Given the description of an element on the screen output the (x, y) to click on. 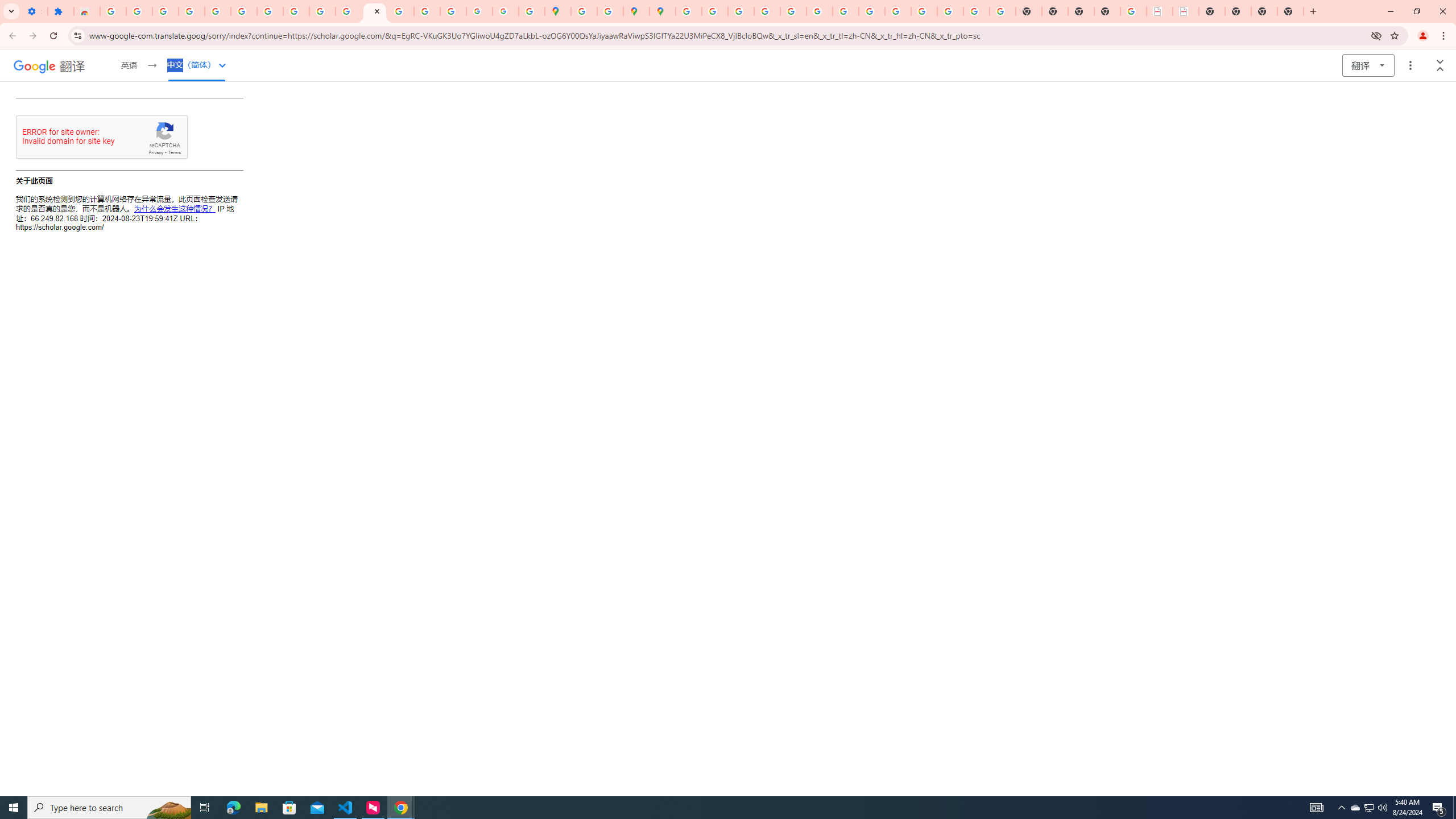
Google Images (1002, 11)
